Given the description of an element on the screen output the (x, y) to click on. 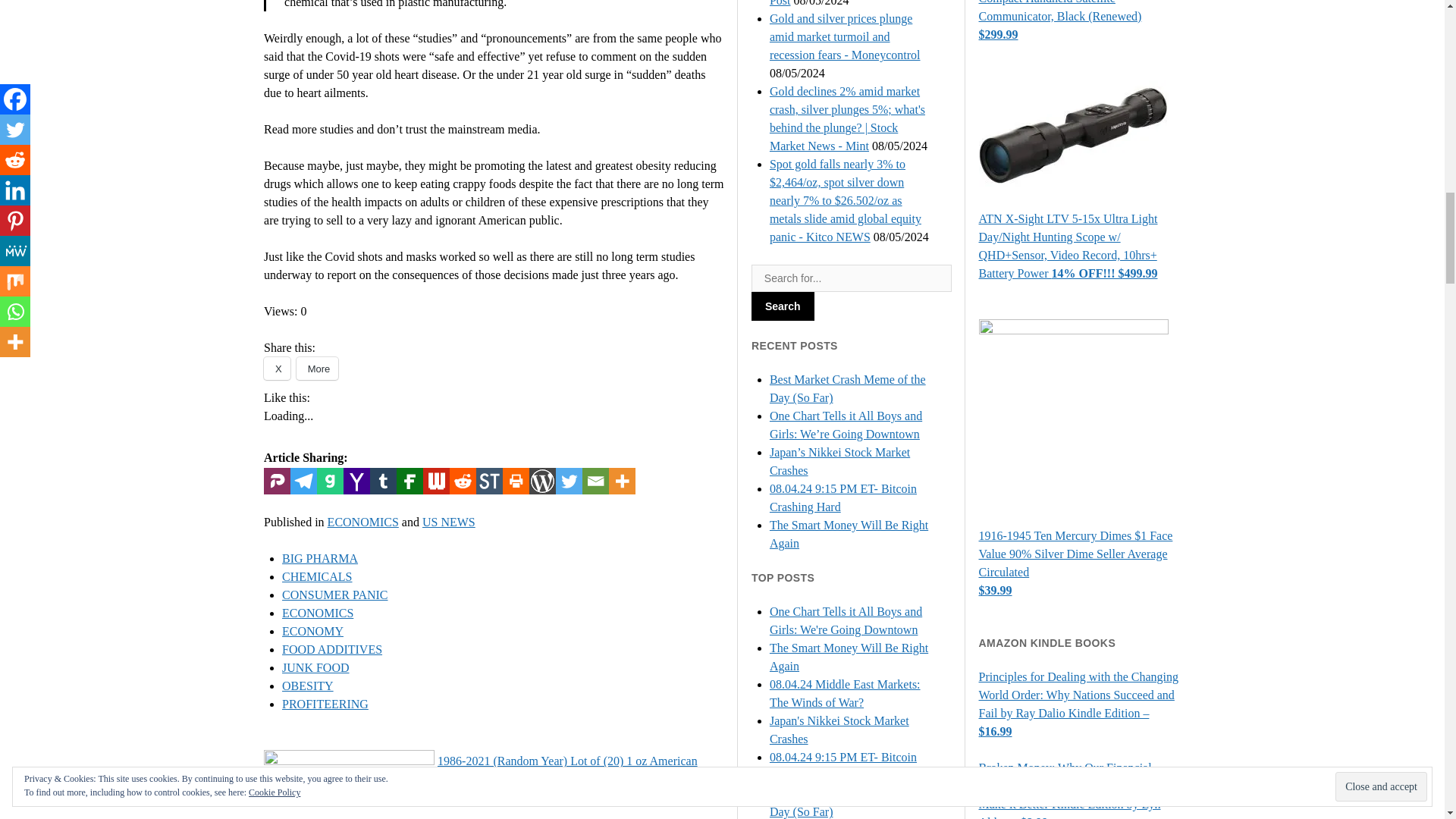
Parler (276, 480)
Search (782, 306)
Yahoo Mail (356, 480)
More (318, 368)
Gab (330, 480)
Search (782, 306)
Tumblr (382, 480)
X (276, 368)
Click to share on X (276, 368)
Telegram (303, 480)
